Given the description of an element on the screen output the (x, y) to click on. 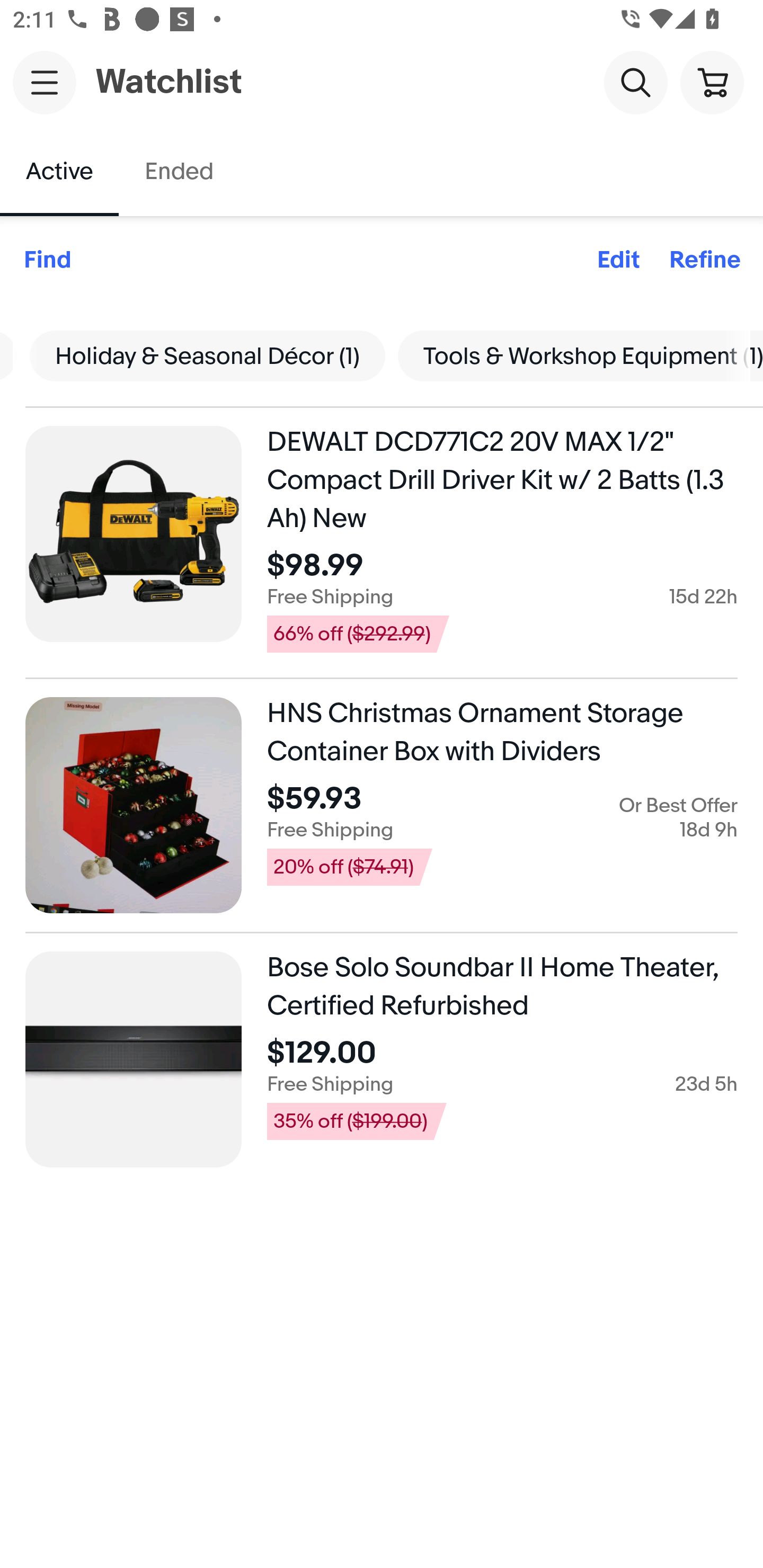
Main navigation, open (44, 82)
Search (635, 81)
Cart button shopping cart (711, 81)
Ended (178, 171)
Find Find in list (47, 260)
Edit Edit list (617, 260)
Refine Refine list (704, 260)
Holiday & Seasonal Décor (1) (207, 355)
Tools & Workshop Equipment (1) (574, 355)
